Given the description of an element on the screen output the (x, y) to click on. 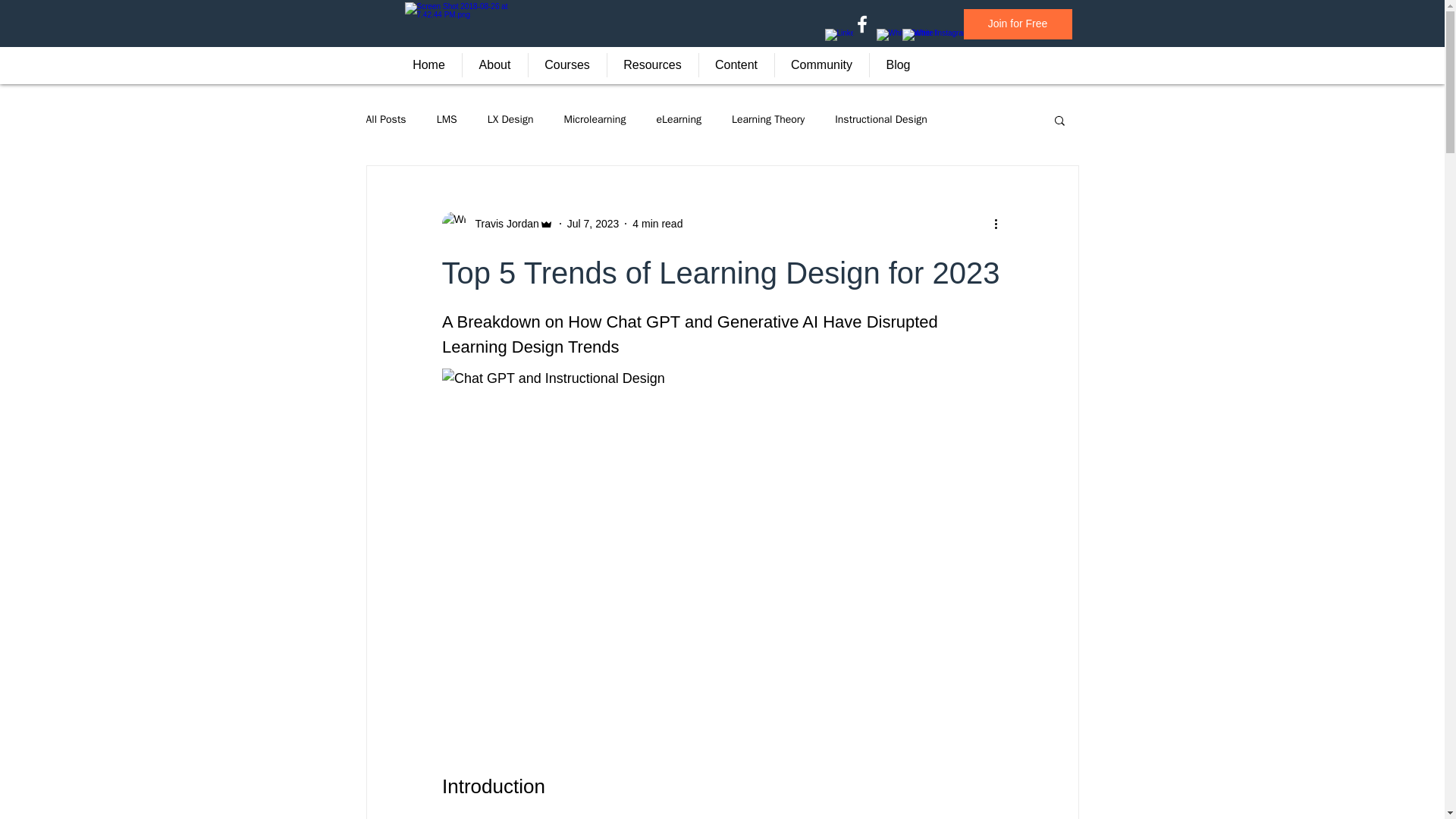
eLearning (678, 119)
Jul 7, 2023 (593, 223)
LX Design (510, 119)
About (495, 64)
Microlearning (594, 119)
Resources (652, 64)
4 min read (656, 223)
Blog (897, 64)
Learning Theory (768, 119)
Instructional Design (880, 119)
LMS (446, 119)
Home (428, 64)
All Posts (385, 119)
Join for Free (1016, 24)
Content (736, 64)
